Given the description of an element on the screen output the (x, y) to click on. 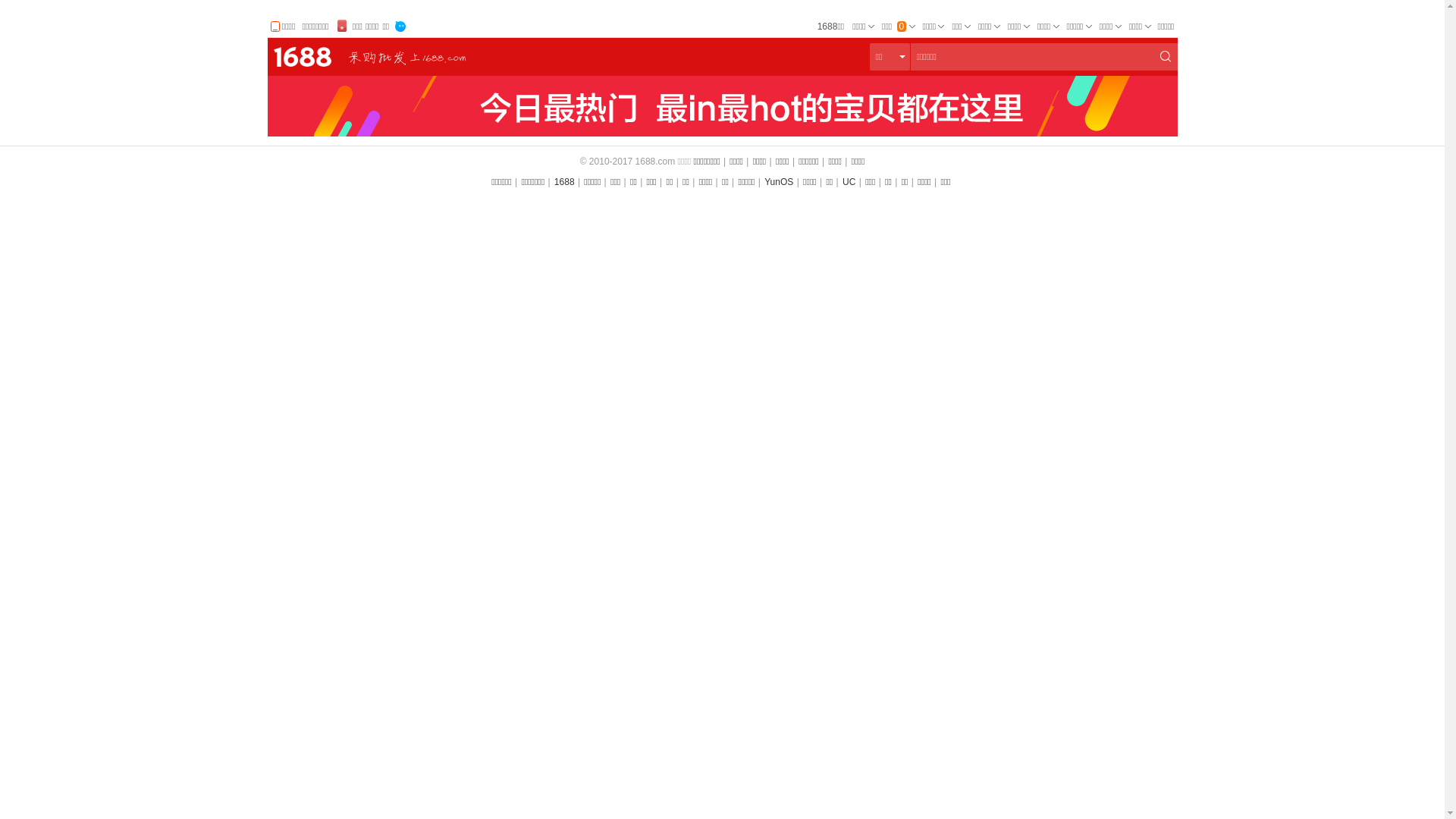
1688 Element type: text (564, 181)
UC Element type: text (848, 181)
YunOS Element type: text (778, 181)
